Given the description of an element on the screen output the (x, y) to click on. 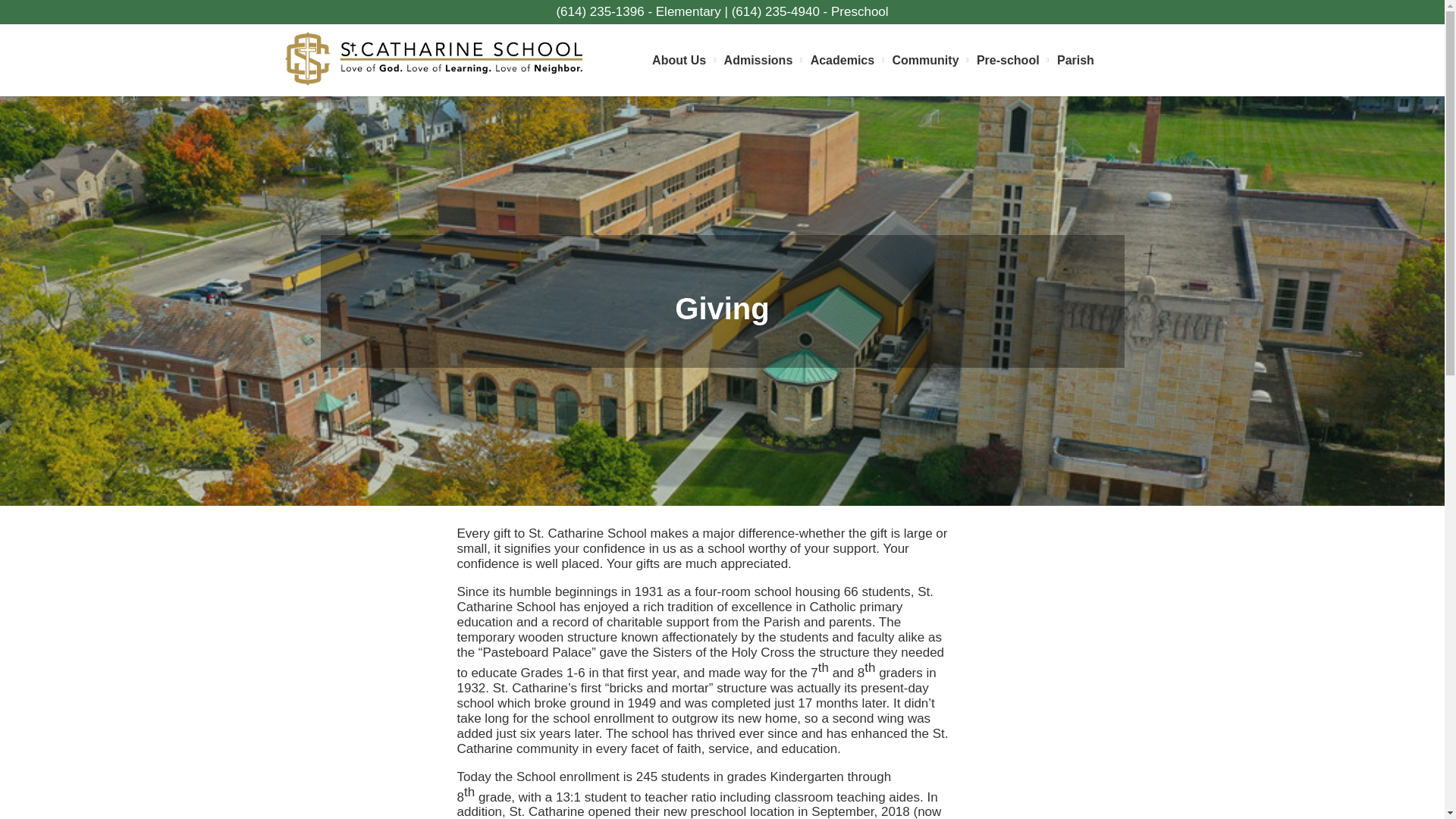
About Us (683, 60)
